Given the description of an element on the screen output the (x, y) to click on. 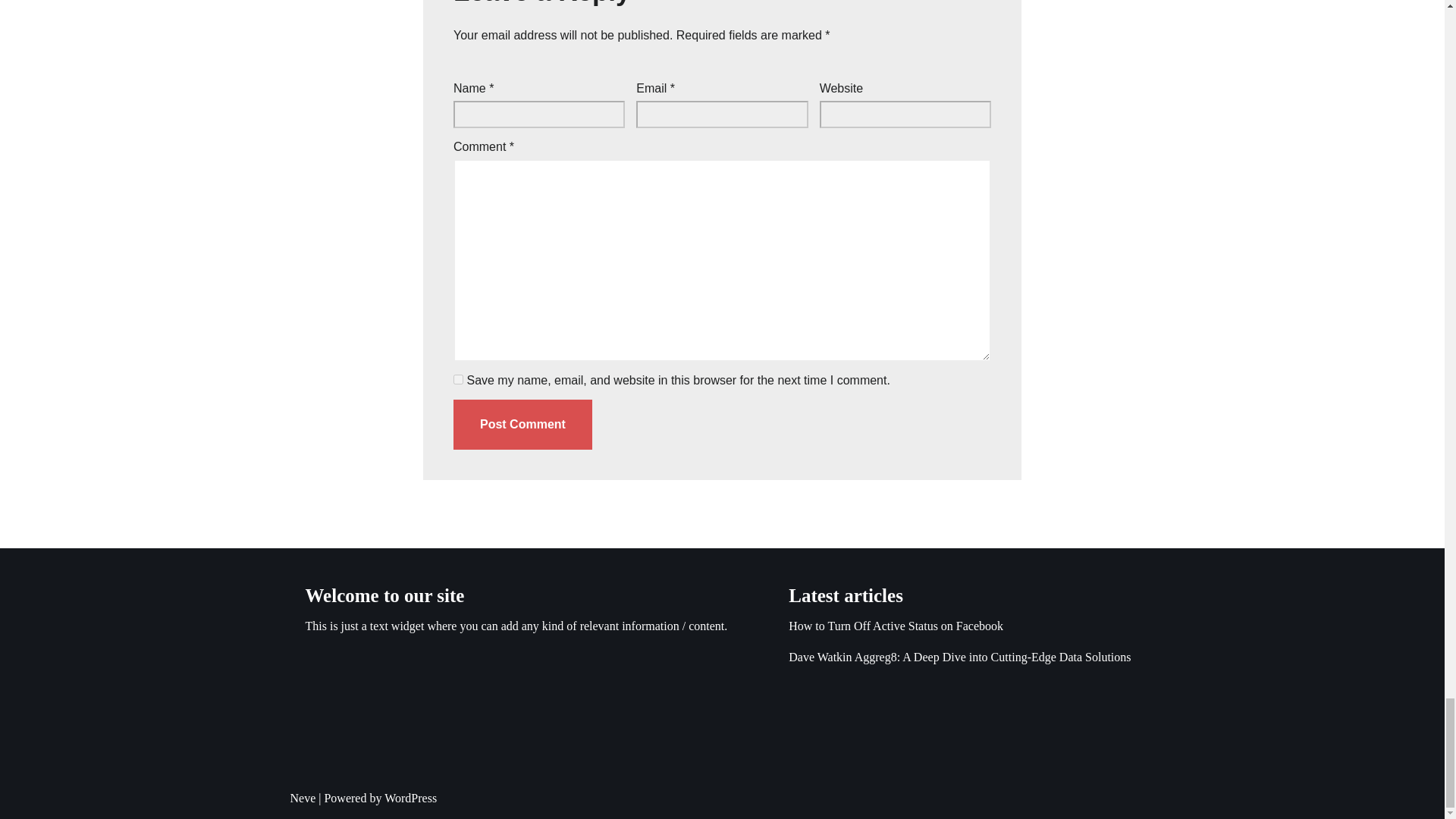
yes (457, 379)
Neve (302, 797)
How to Turn Off Active Status on Facebook (896, 625)
WordPress (410, 797)
Post Comment (522, 424)
Post Comment (522, 424)
